Given the description of an element on the screen output the (x, y) to click on. 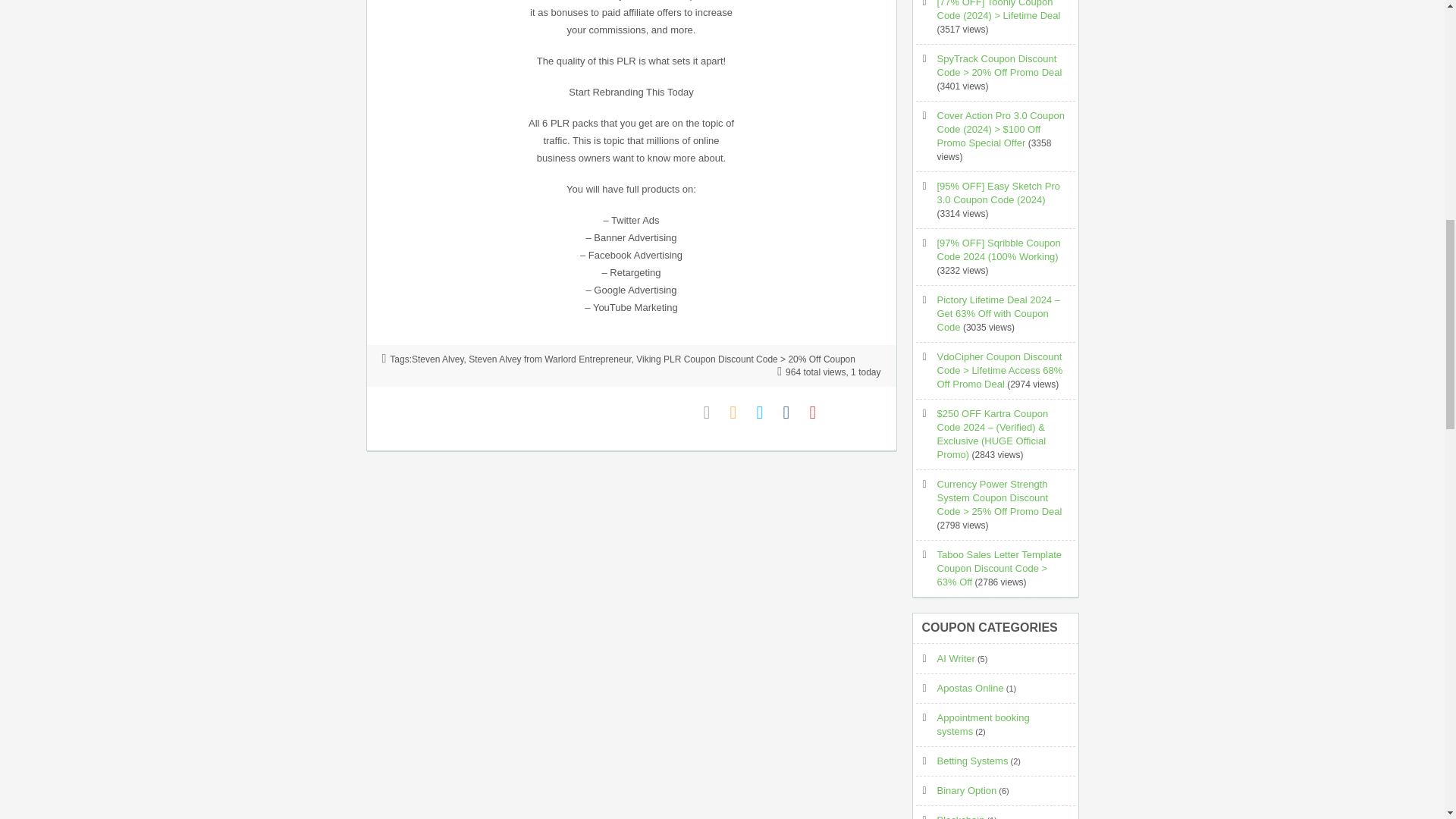
Twitter (765, 412)
Steven Alvey from Warlord Entrepreneur (549, 358)
Email to Friend (712, 412)
Pinterest (818, 412)
Reddit (871, 412)
Coupon Comments RSS (738, 412)
Facebook (791, 412)
Steven Alvey (437, 358)
Digg (844, 412)
